Given the description of an element on the screen output the (x, y) to click on. 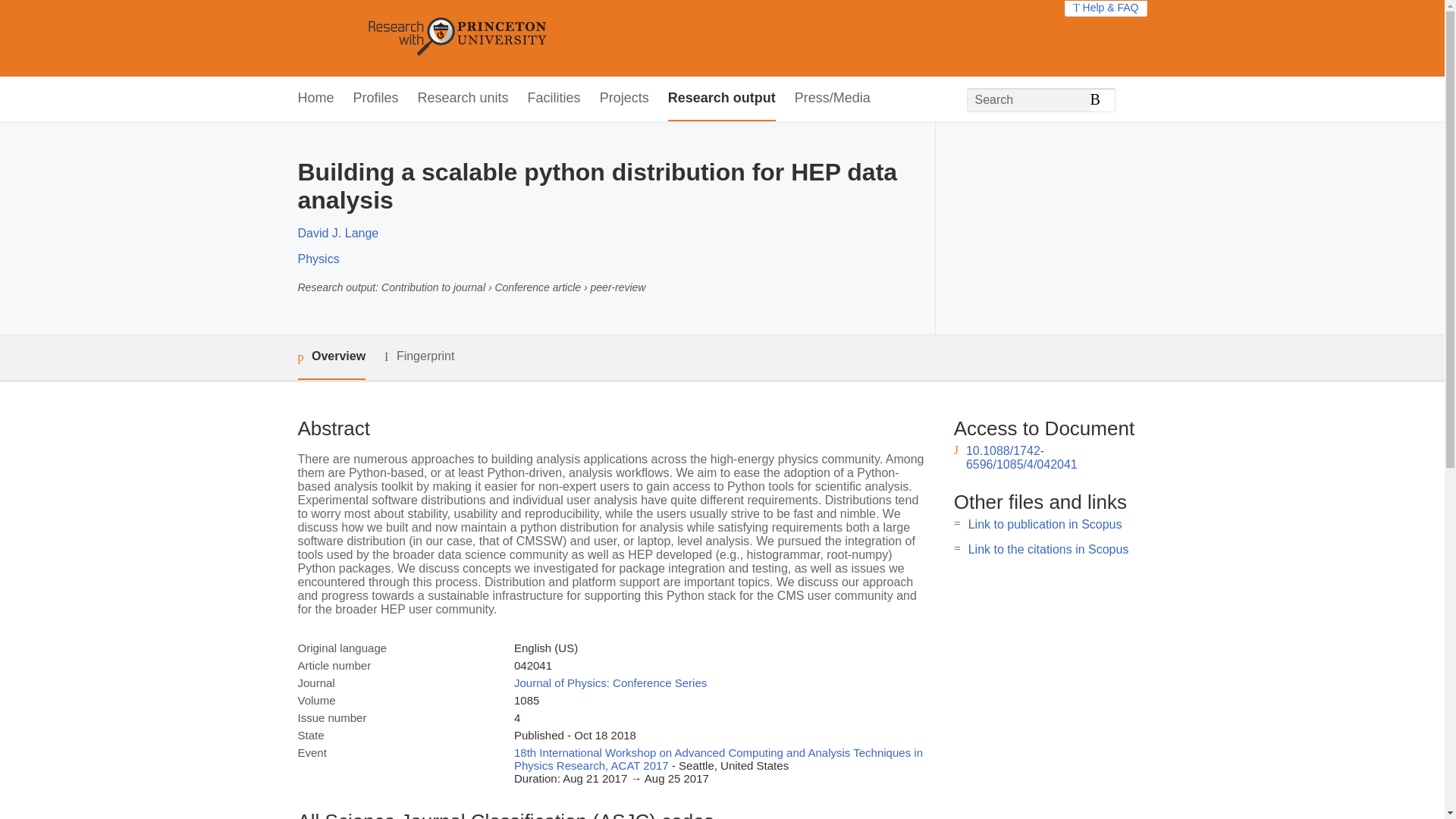
Facilities (553, 98)
Overview (331, 357)
David J. Lange (337, 232)
Journal of Physics: Conference Series (609, 682)
Fingerprint (419, 356)
Link to publication in Scopus (1045, 523)
Link to the citations in Scopus (1048, 549)
Projects (624, 98)
Profiles (375, 98)
